Given the description of an element on the screen output the (x, y) to click on. 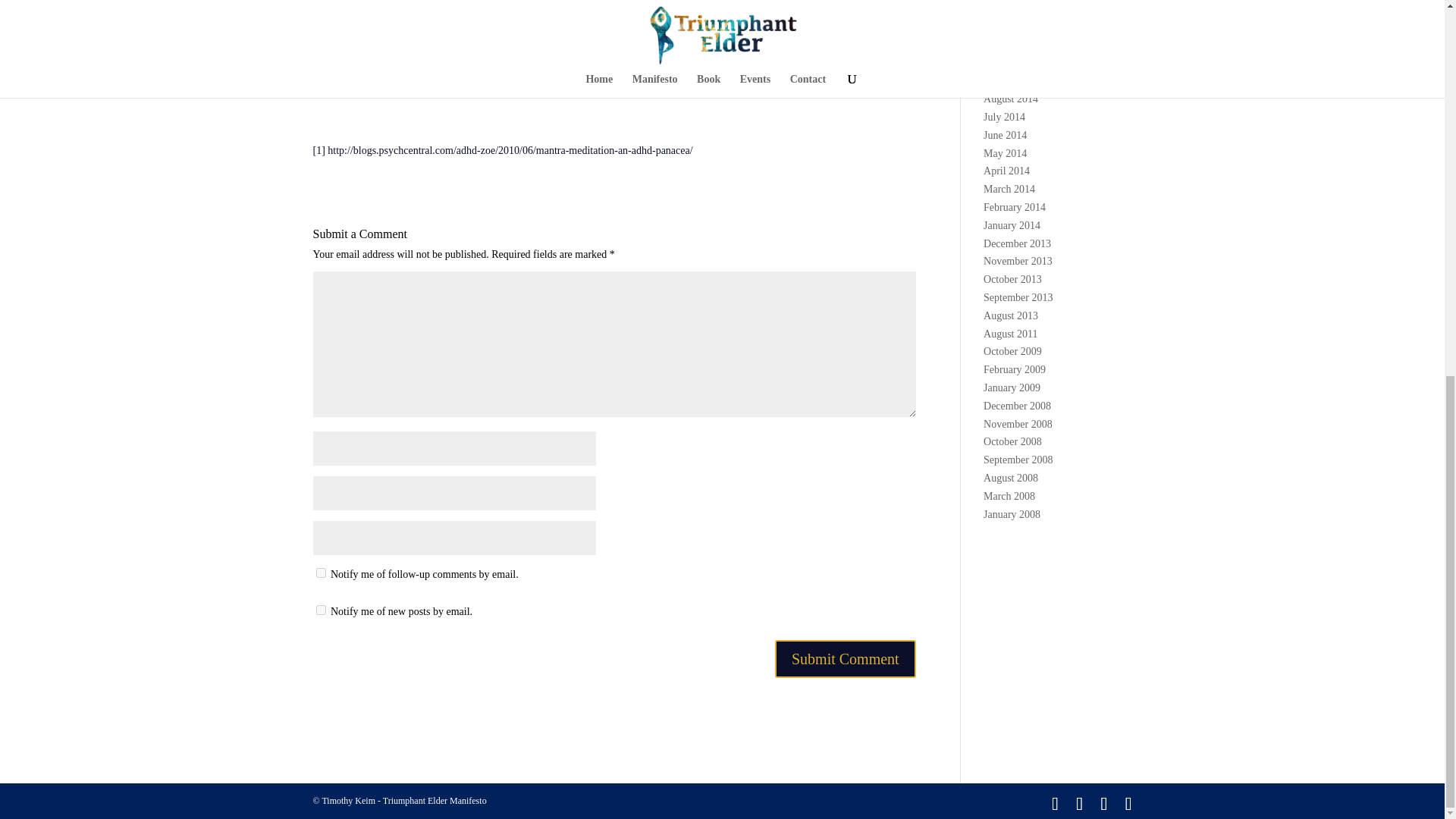
Submit Comment (844, 658)
subscribe (319, 610)
subscribe (319, 573)
Submit Comment (844, 658)
